Given the description of an element on the screen output the (x, y) to click on. 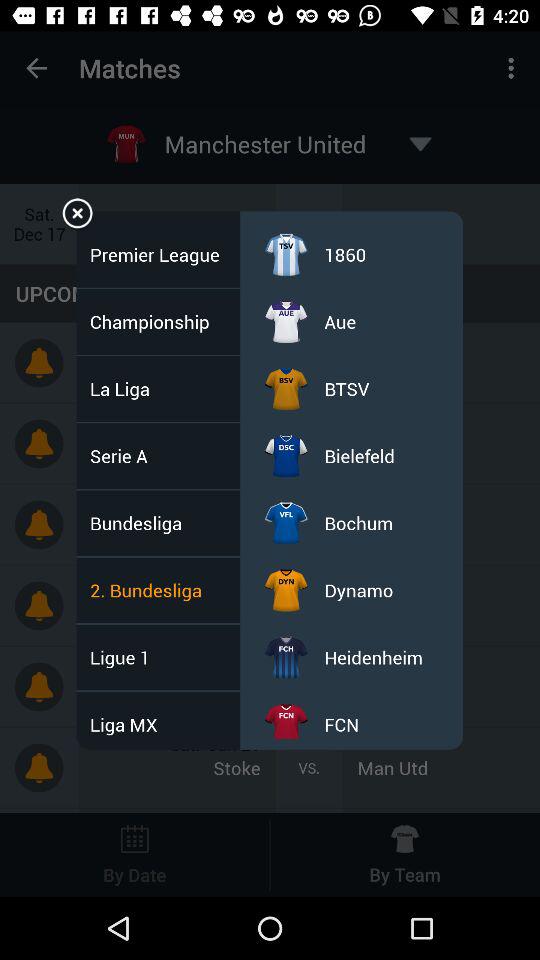
jump until serie a (124, 455)
